Given the description of an element on the screen output the (x, y) to click on. 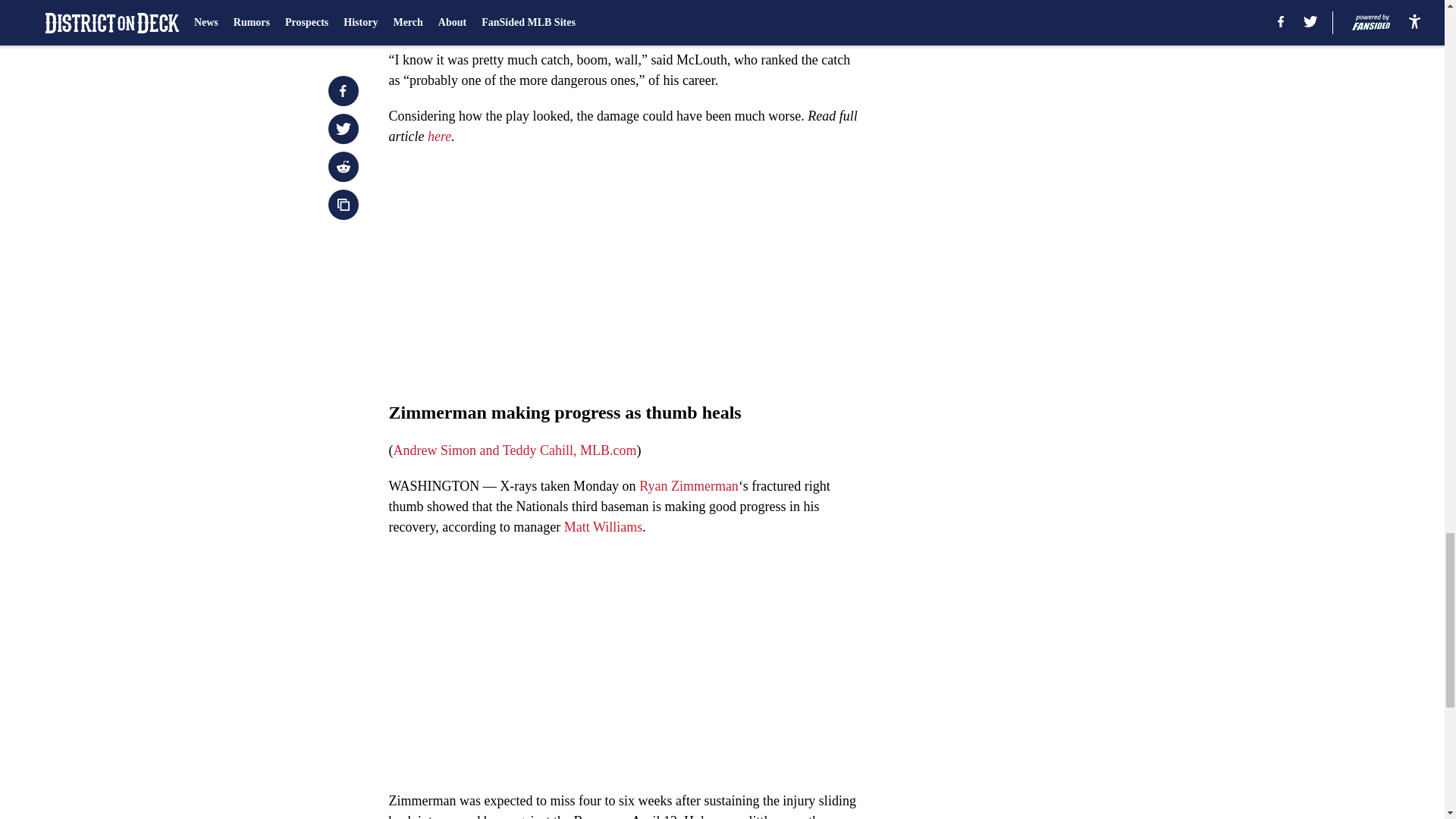
Andrew Simon and Teddy Cahill, MLB.com (514, 450)
here (439, 136)
Matt Williams (603, 526)
Ryan Zimmerman (688, 485)
